Given the description of an element on the screen output the (x, y) to click on. 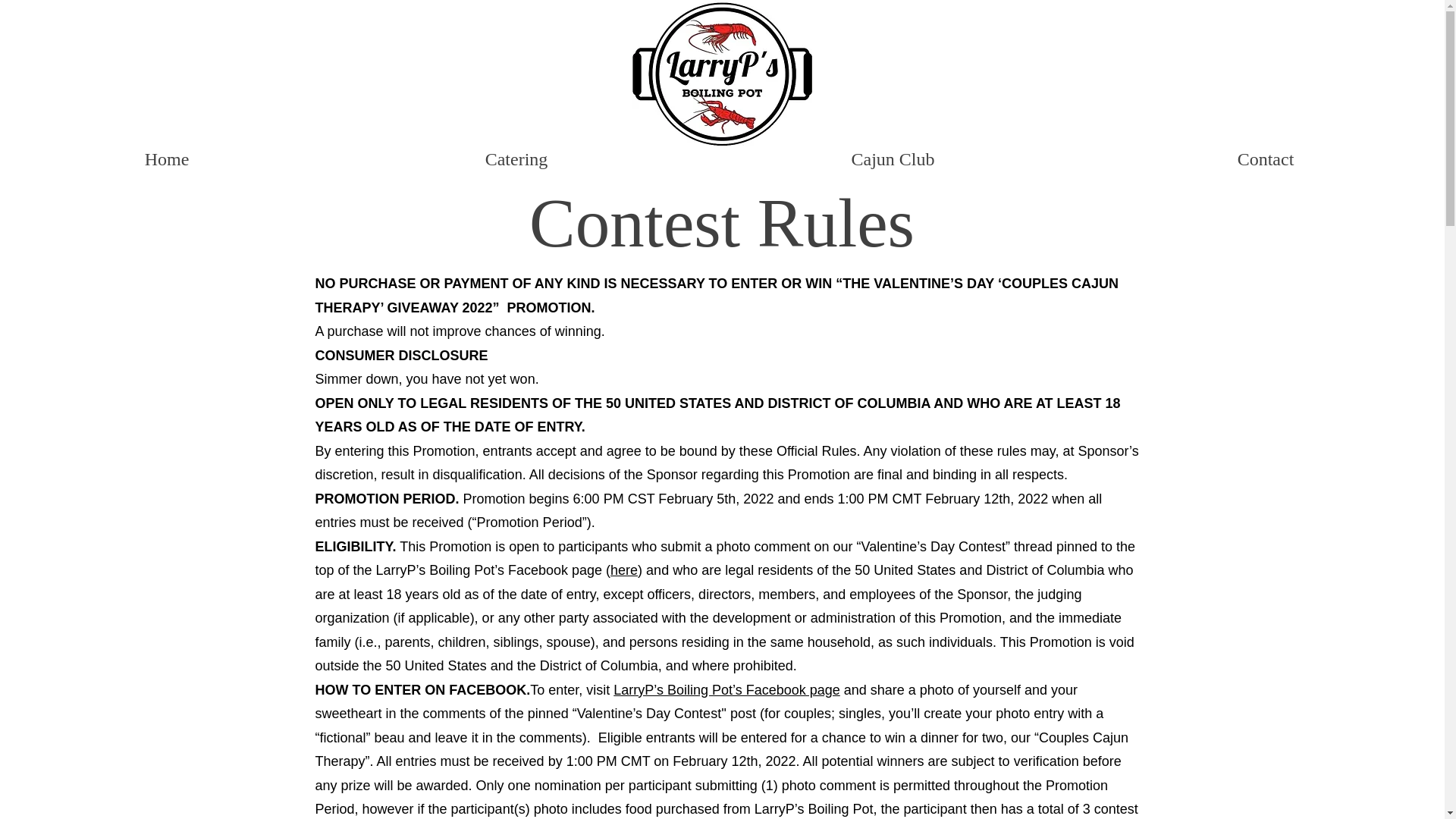
Cajun Club (892, 158)
Home (166, 158)
here (623, 570)
Catering (515, 158)
